Given the description of an element on the screen output the (x, y) to click on. 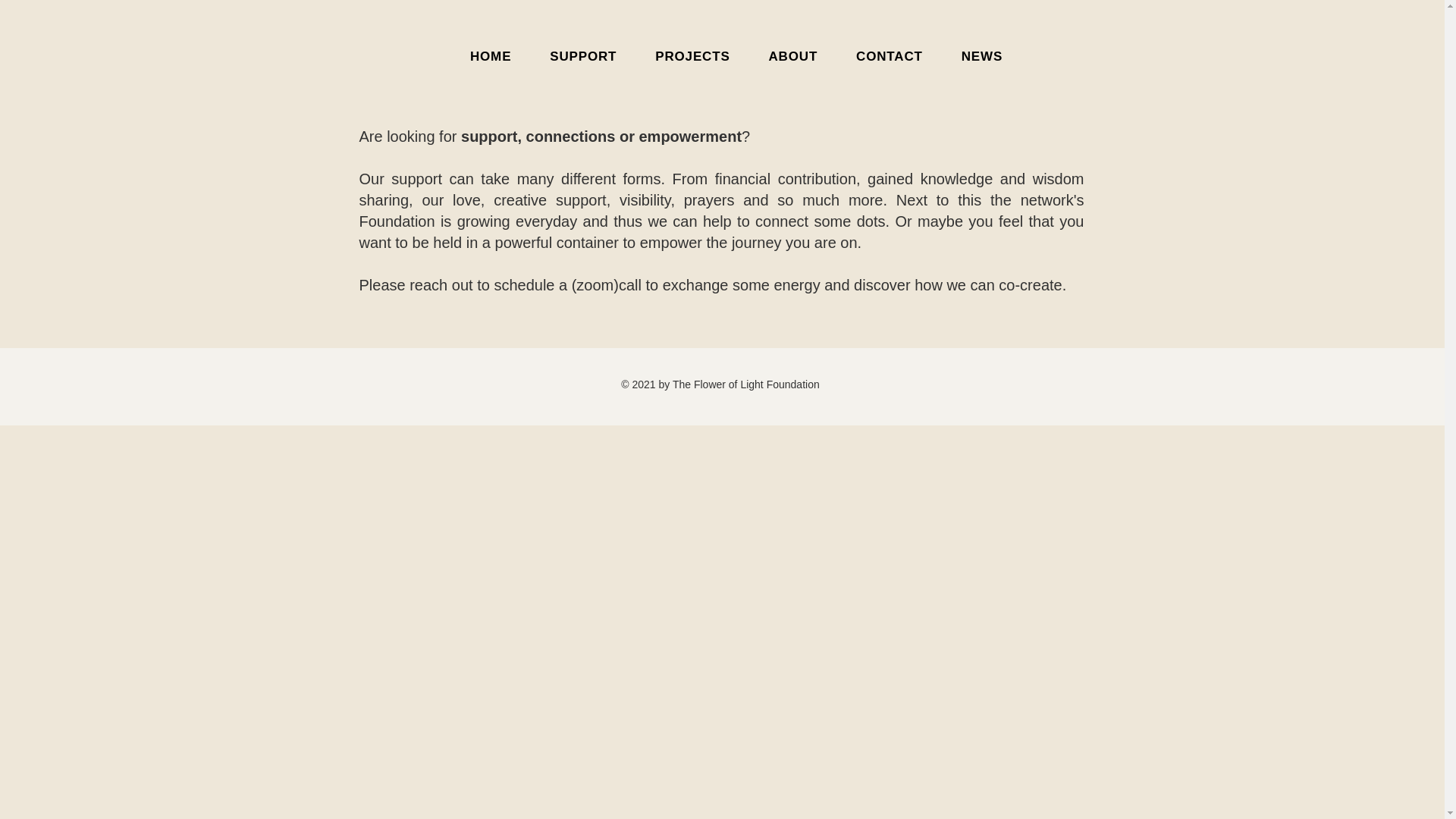
CONTACT (889, 56)
PROJECTS (692, 56)
SUPPORT (734, 56)
HOME (583, 56)
ABOUT (489, 56)
NEWS (793, 56)
